Given the description of an element on the screen output the (x, y) to click on. 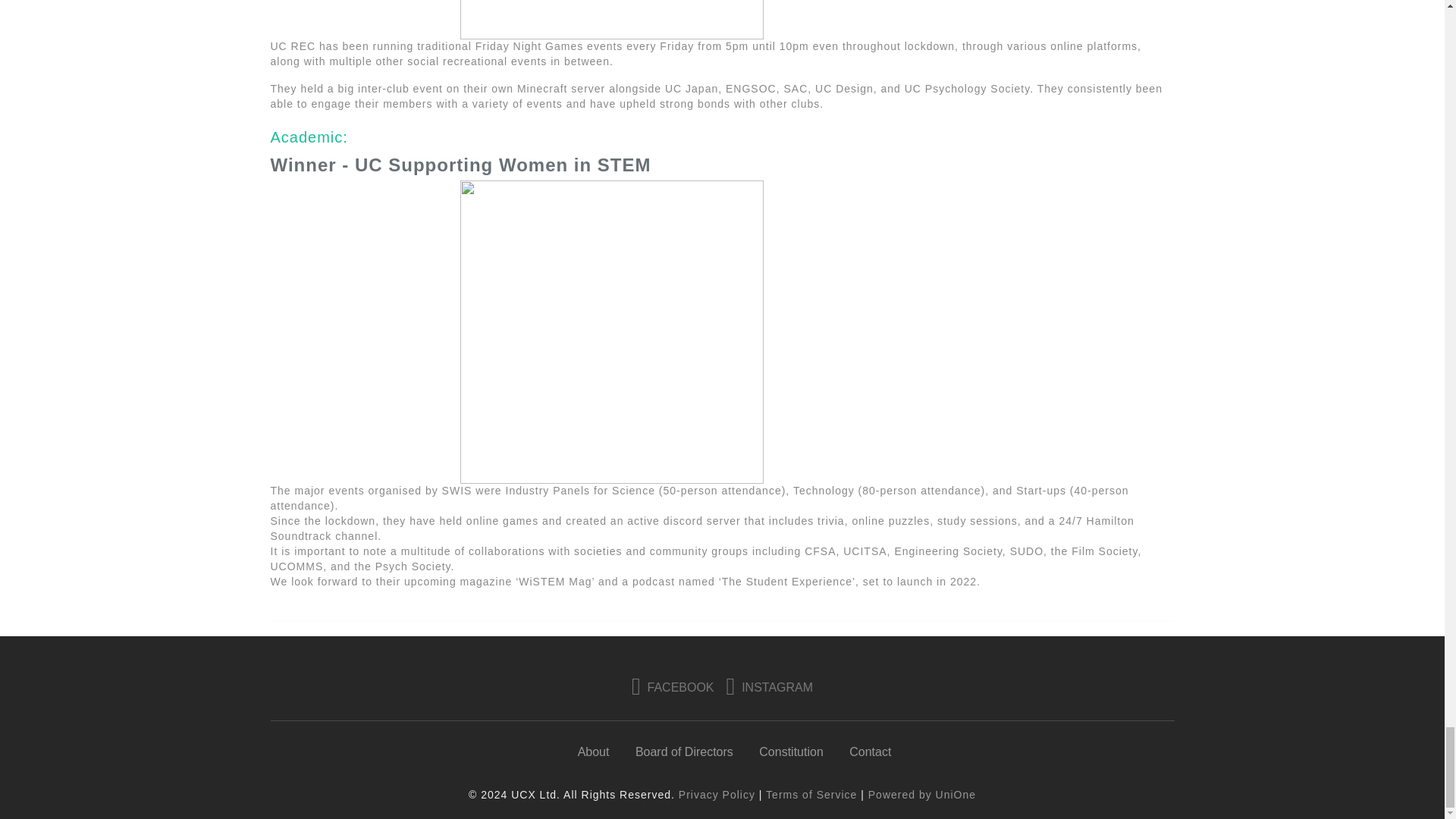
Terms of Service (811, 794)
Contact (869, 751)
About (594, 751)
Privacy Policy (716, 794)
FACEBOOK (672, 686)
Board of Directors (683, 751)
INSTAGRAM (769, 686)
Constitution (791, 751)
Powered by UniOne (921, 794)
